Given the description of an element on the screen output the (x, y) to click on. 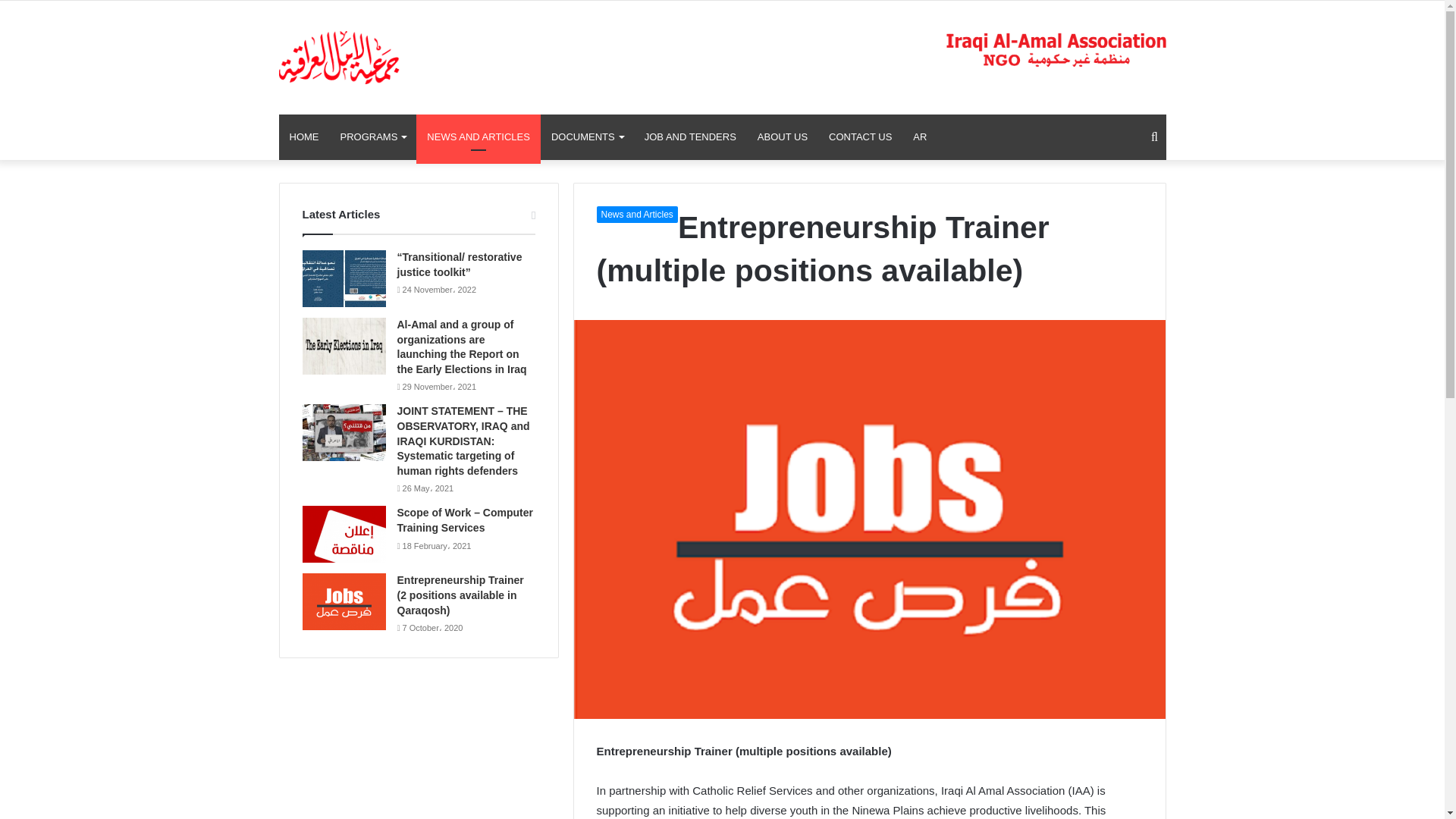
AR (919, 136)
JOB AND TENDERS (689, 136)
Search for (1154, 136)
DOCUMENTS (586, 136)
CONTACT US (860, 136)
News and Articles (636, 214)
NEWS AND ARTICLES (478, 136)
PROGRAMS (372, 136)
HOME (304, 136)
ABOUT US (782, 136)
